Given the description of an element on the screen output the (x, y) to click on. 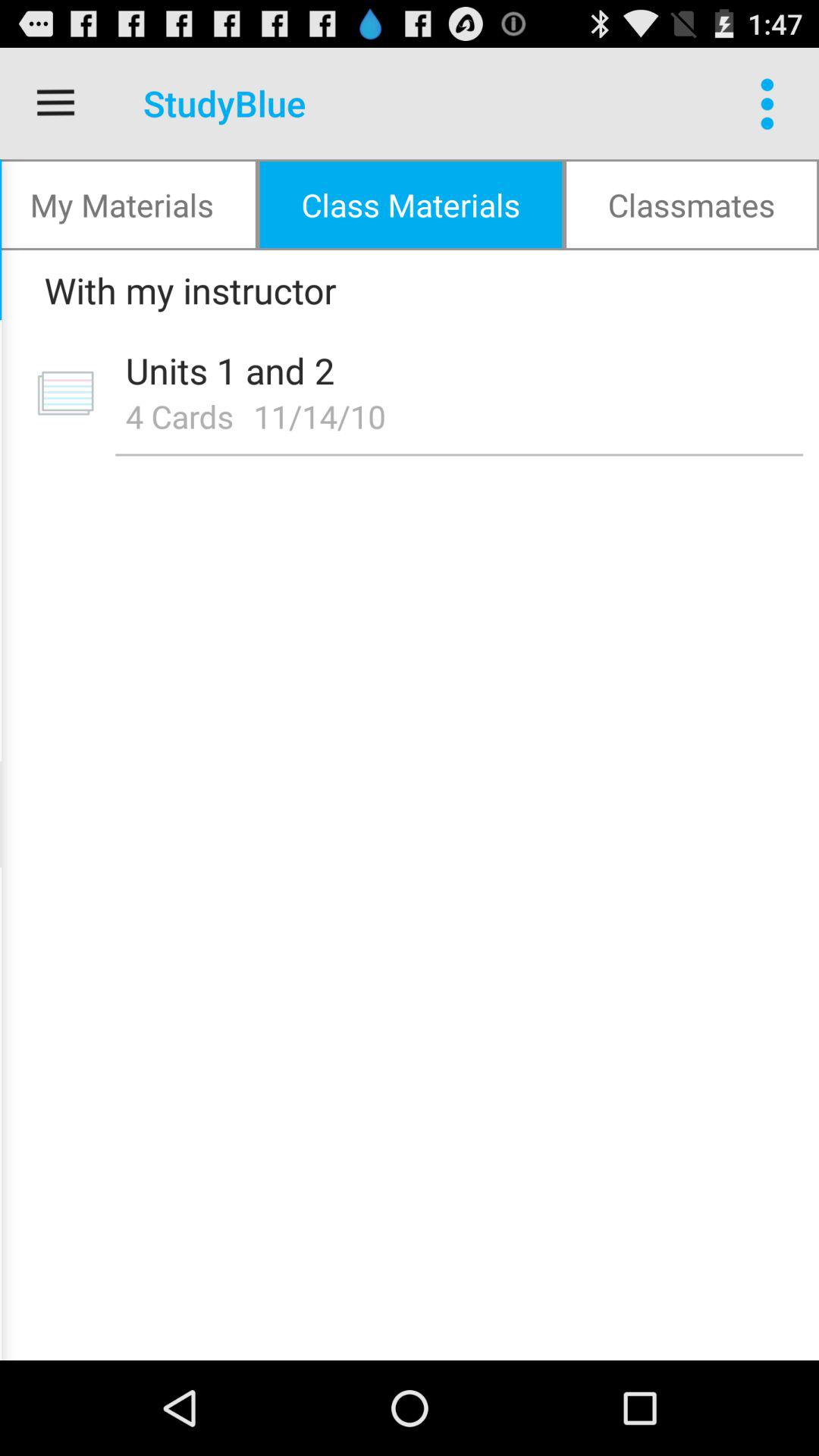
turn on the icon below units 1 and icon (179, 415)
